Given the description of an element on the screen output the (x, y) to click on. 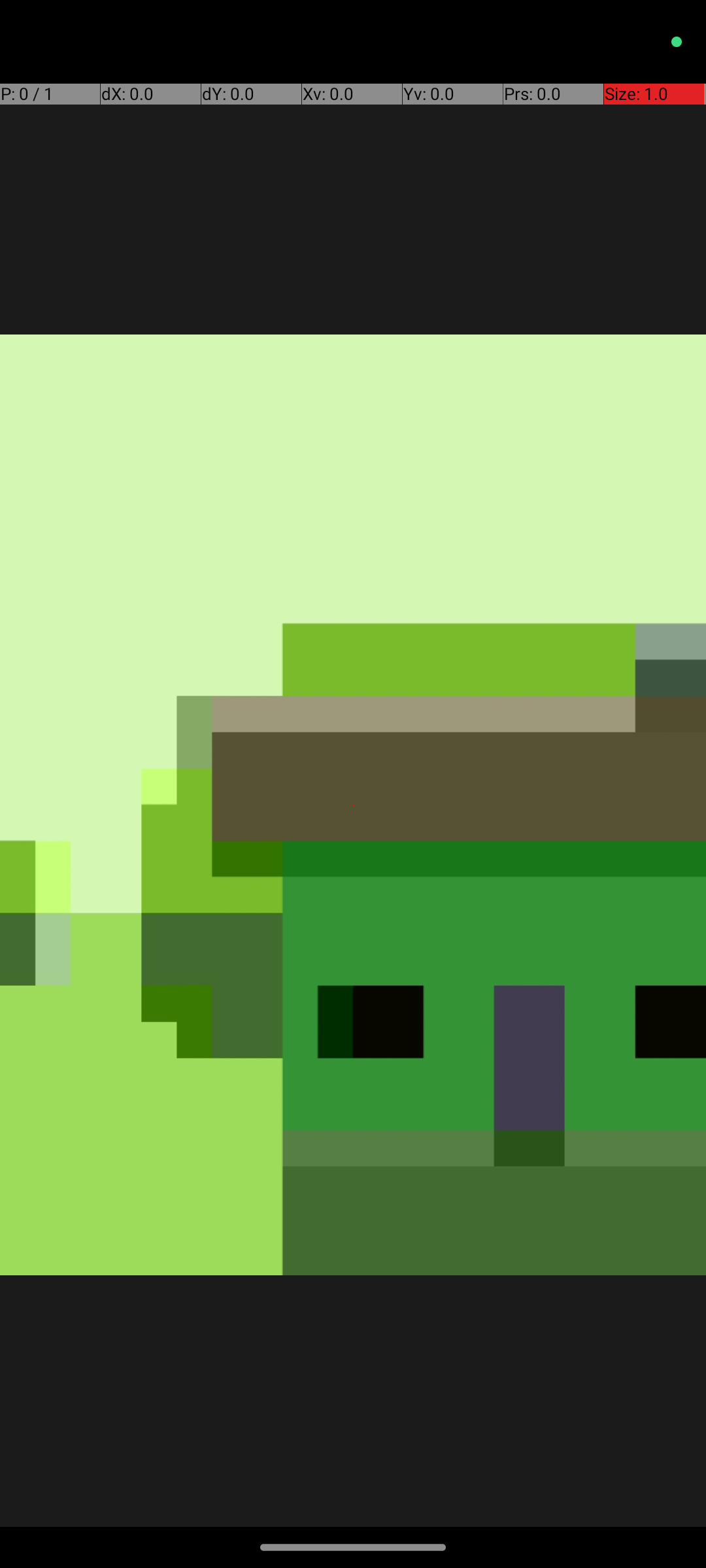
Photo taken on Oct 15, 2023 15:34:55 Element type: android.widget.ImageView (353, 804)
